Given the description of an element on the screen output the (x, y) to click on. 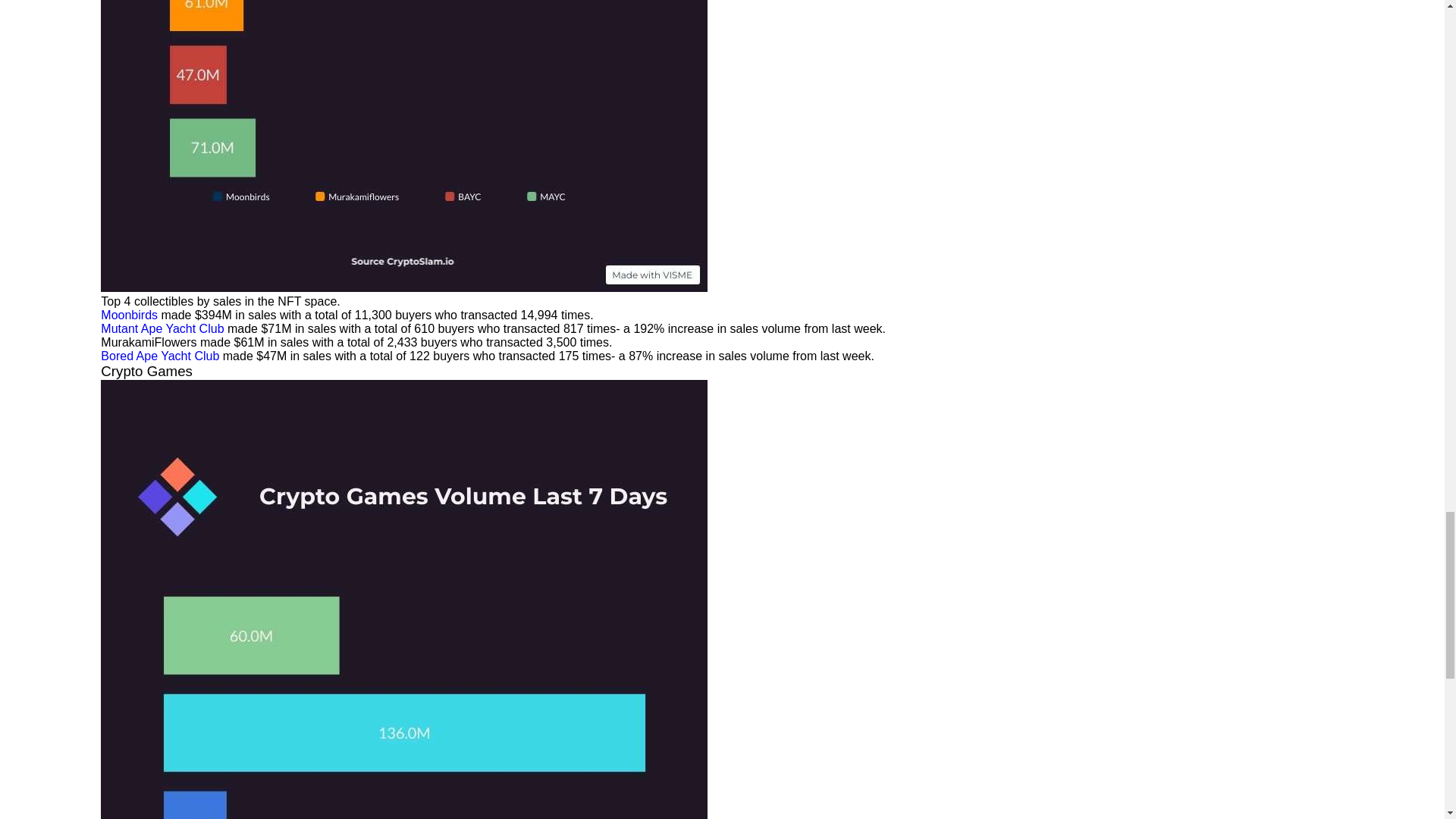
Moonbirds (128, 314)
Mutant Ape Yacht Club (162, 328)
Bored Ape Yacht Club (159, 355)
